Given the description of an element on the screen output the (x, y) to click on. 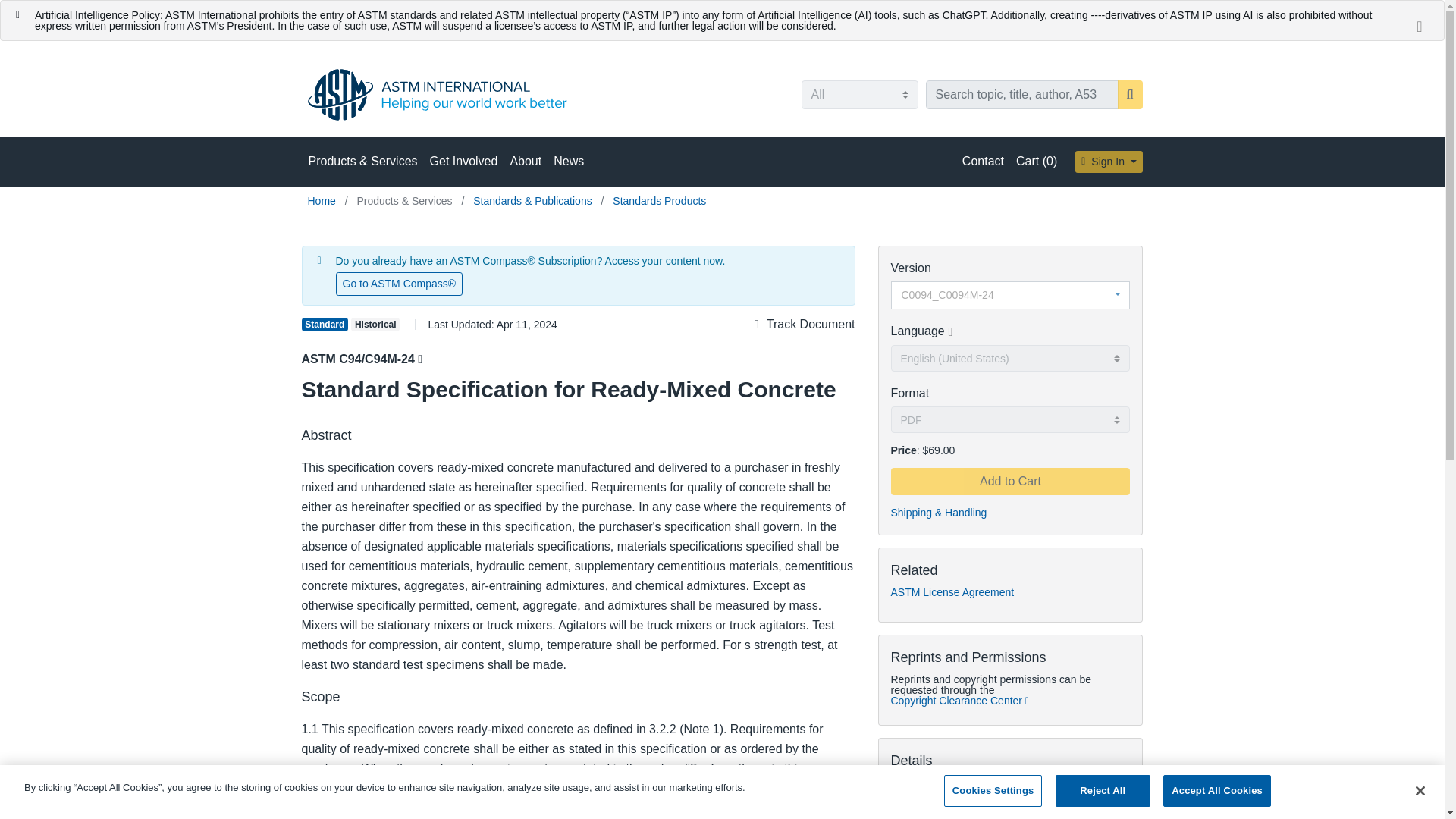
Go to Home Page (323, 200)
Add to Cart (1009, 481)
All (858, 94)
